Given the description of an element on the screen output the (x, y) to click on. 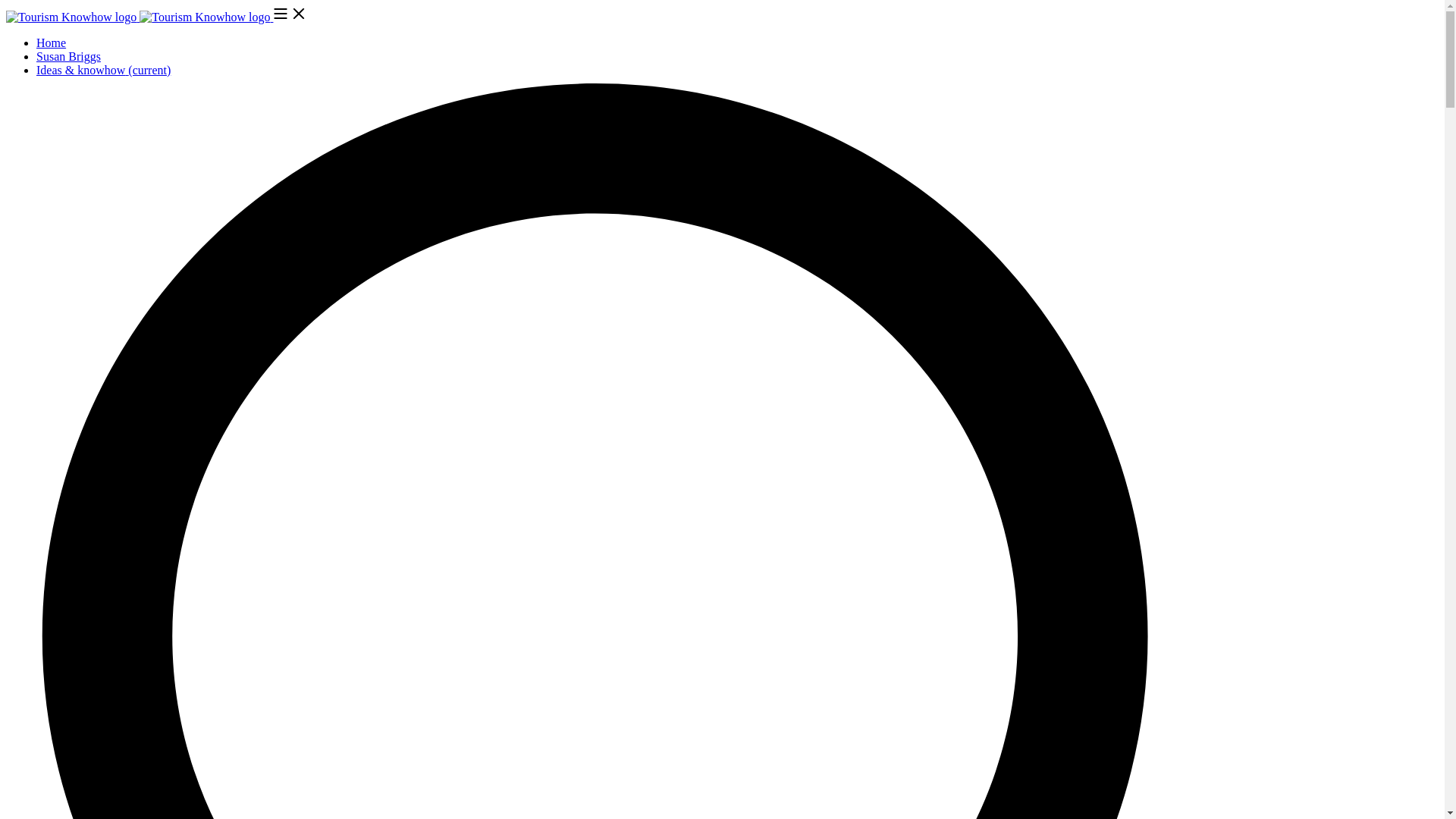
Home (50, 42)
Susan Briggs (68, 56)
